Given the description of an element on the screen output the (x, y) to click on. 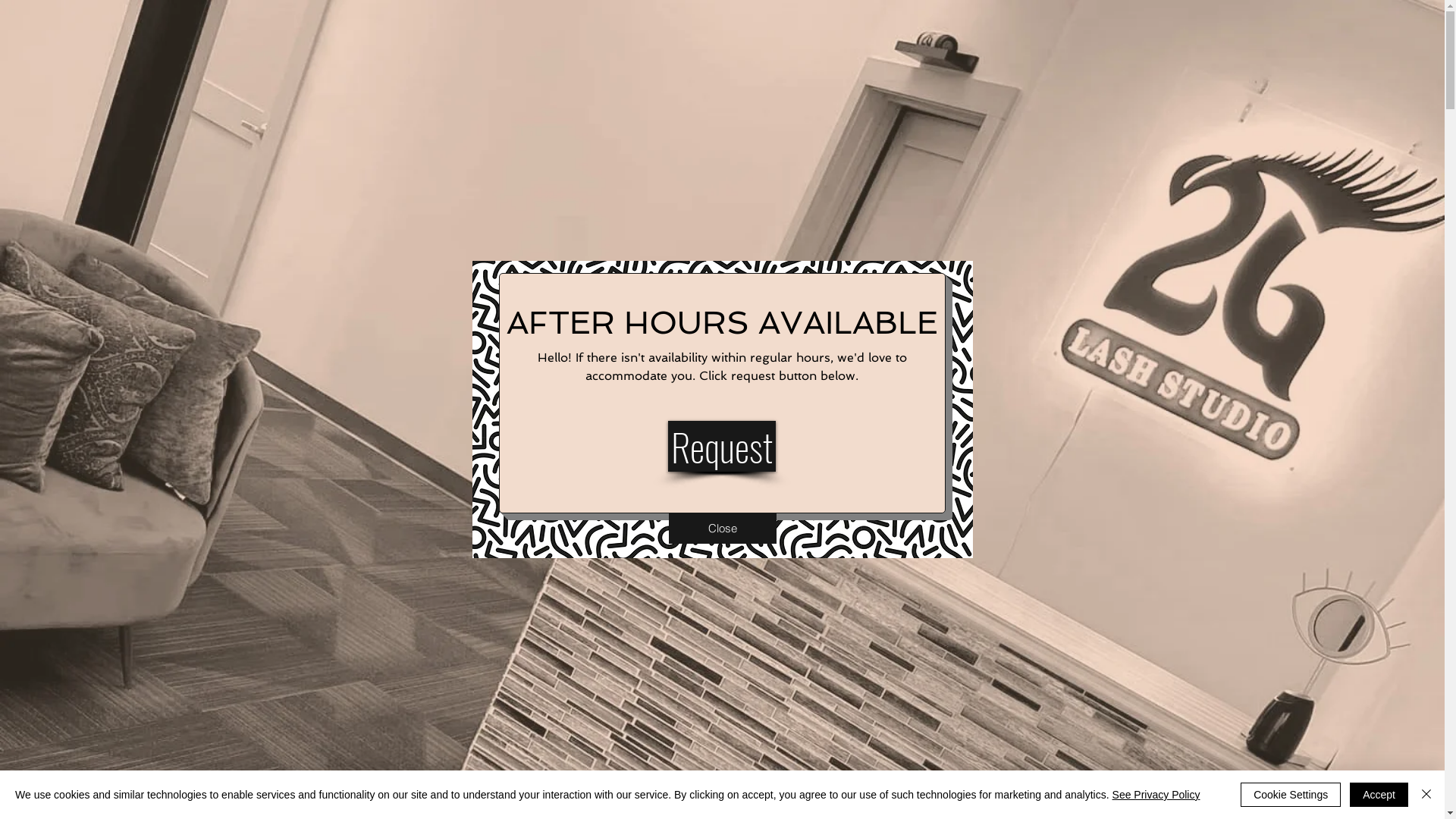
Cookie Settings Element type: text (1290, 794)
2GROOVY NAILS AND LASH STUDIO Element type: text (203, 38)
Accept Element type: text (1378, 794)
Careers Element type: text (914, 93)
Lash Styles Element type: text (512, 93)
See Privacy Policy Element type: text (1156, 794)
Services Element type: text (617, 93)
Button Magic Element type: hover (694, 421)
Log In to book or make changes to your appt Element type: text (654, 55)
Book Now Element type: text (814, 93)
Contact Element type: text (714, 93)
Button Magic Element type: hover (469, 421)
Home Element type: text (414, 93)
Request Element type: text (721, 445)
Gift Card Element type: text (1011, 93)
Button Magic Element type: hover (937, 203)
